Given the description of an element on the screen output the (x, y) to click on. 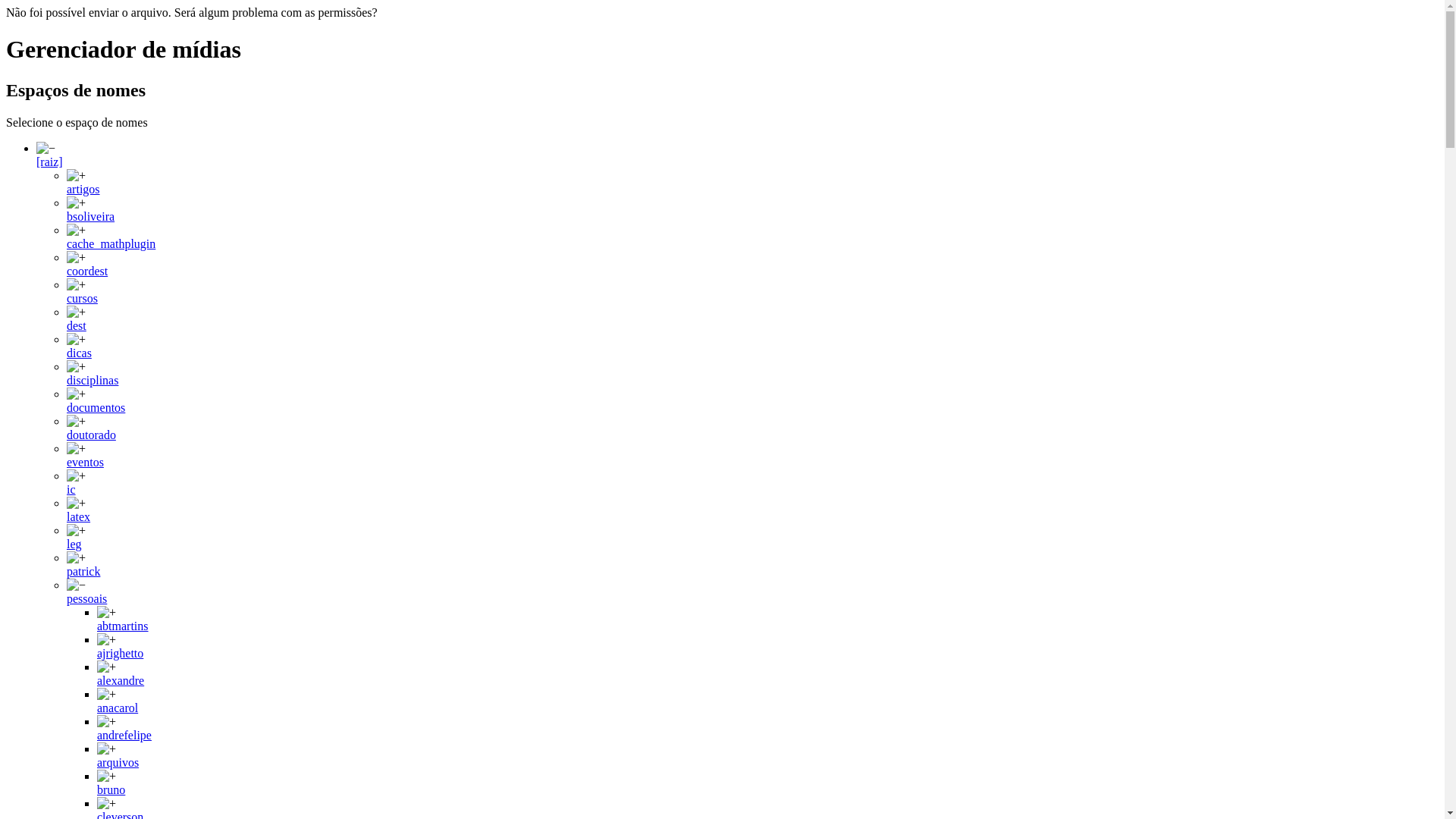
latex Element type: text (78, 516)
documentos Element type: text (95, 407)
cache_mathplugin Element type: text (110, 243)
artigos Element type: text (83, 188)
eventos Element type: text (84, 461)
cursos Element type: text (81, 297)
anacarol Element type: text (117, 707)
coordest Element type: text (86, 270)
[raiz] Element type: text (49, 161)
dest Element type: text (76, 325)
leg Element type: text (73, 543)
disciplinas Element type: text (92, 379)
dicas Element type: text (78, 352)
bruno Element type: text (111, 789)
patrick Element type: text (83, 570)
arquivos Element type: text (117, 762)
ajrighetto Element type: text (120, 652)
doutorado Element type: text (91, 434)
abtmartins Element type: text (122, 625)
ic Element type: text (70, 489)
alexandre Element type: text (120, 680)
andrefelipe Element type: text (124, 734)
pessoais Element type: text (86, 598)
bsoliveira Element type: text (90, 216)
